Given the description of an element on the screen output the (x, y) to click on. 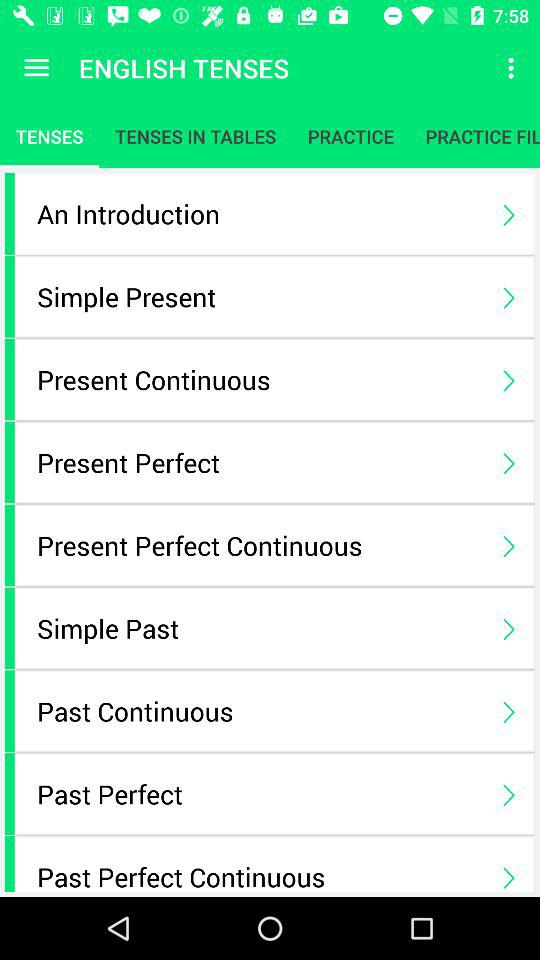
scroll to the simple present icon (259, 296)
